Given the description of an element on the screen output the (x, y) to click on. 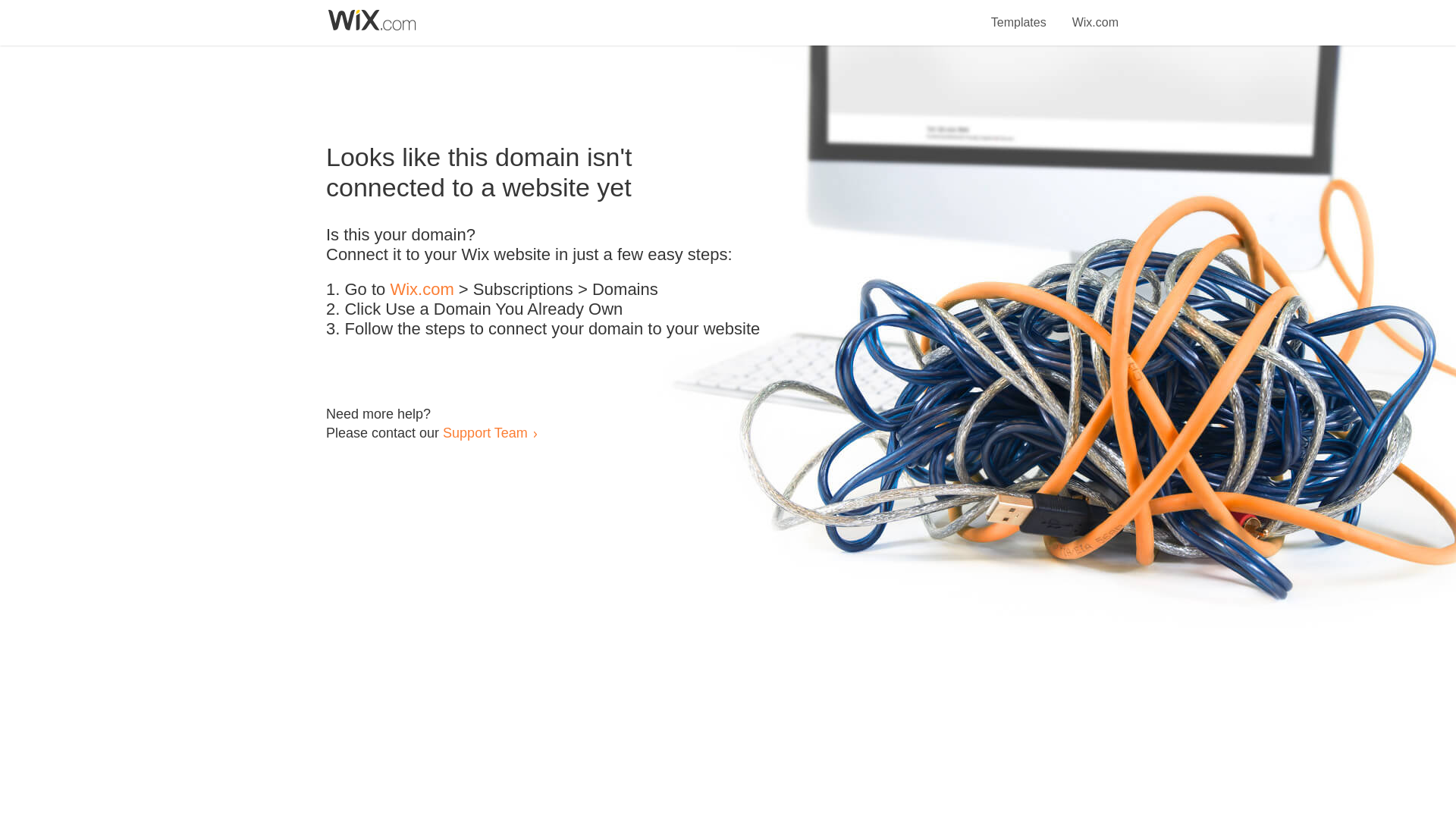
Support Team (484, 432)
Wix.com (1095, 14)
Templates (1018, 14)
Wix.com (421, 289)
